Given the description of an element on the screen output the (x, y) to click on. 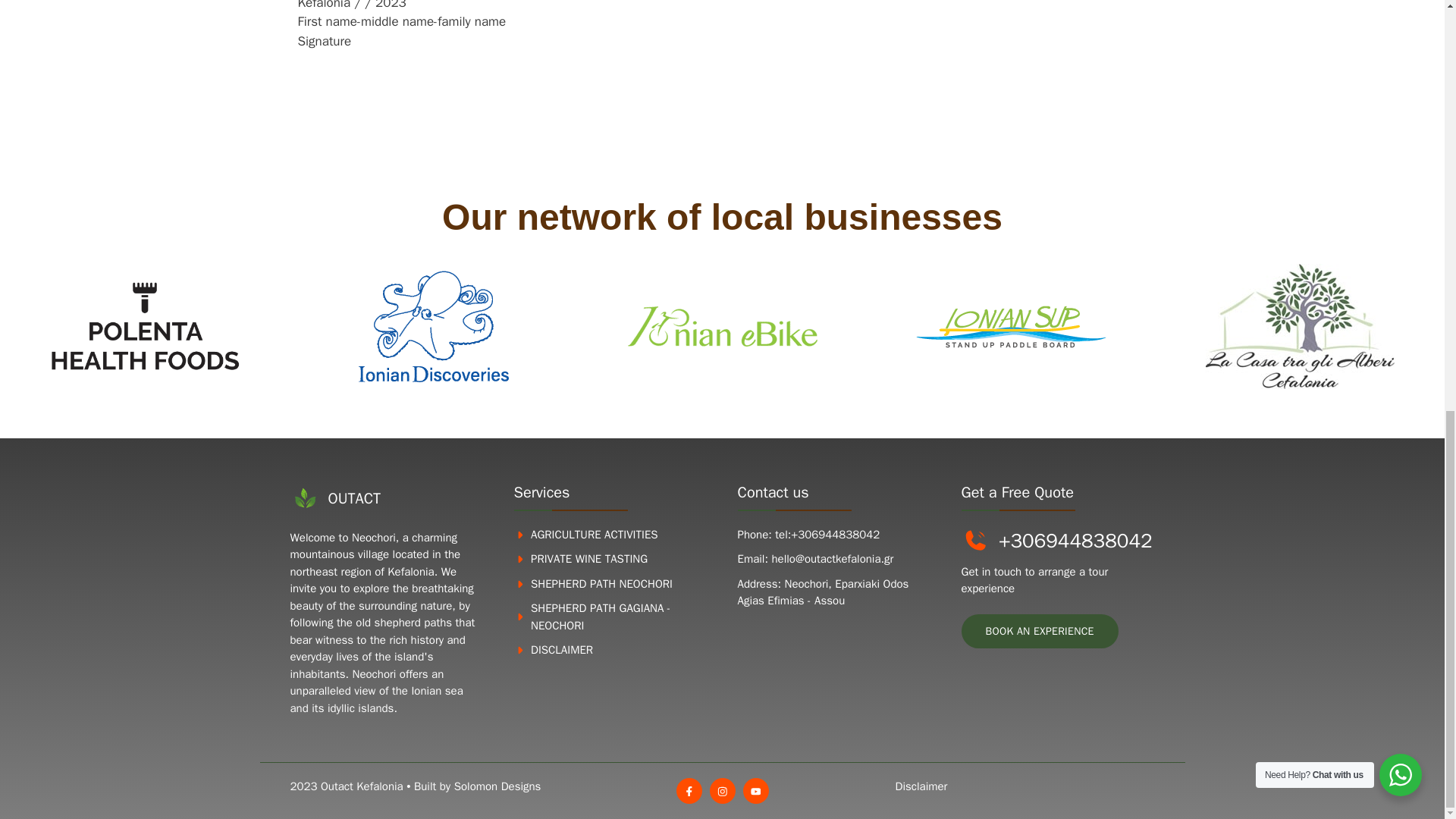
logo la casa tra gli alberi cefalonia (1299, 326)
SHEPHERD PATH GAGIANA - NEOCHORI (600, 616)
logo ionian discoveries (433, 326)
AGRICULTURE ACTIVITIES (594, 534)
DISCLAIMER (561, 649)
logo Ionian Sup (1010, 326)
by Solomon Designs (490, 786)
PRIVATE WINE TASTING (589, 558)
BOOK AN EXPERIENCE (1039, 631)
logo ionian ebike (721, 326)
SHEPHERD PATH NEOCHORI (601, 583)
